Given the description of an element on the screen output the (x, y) to click on. 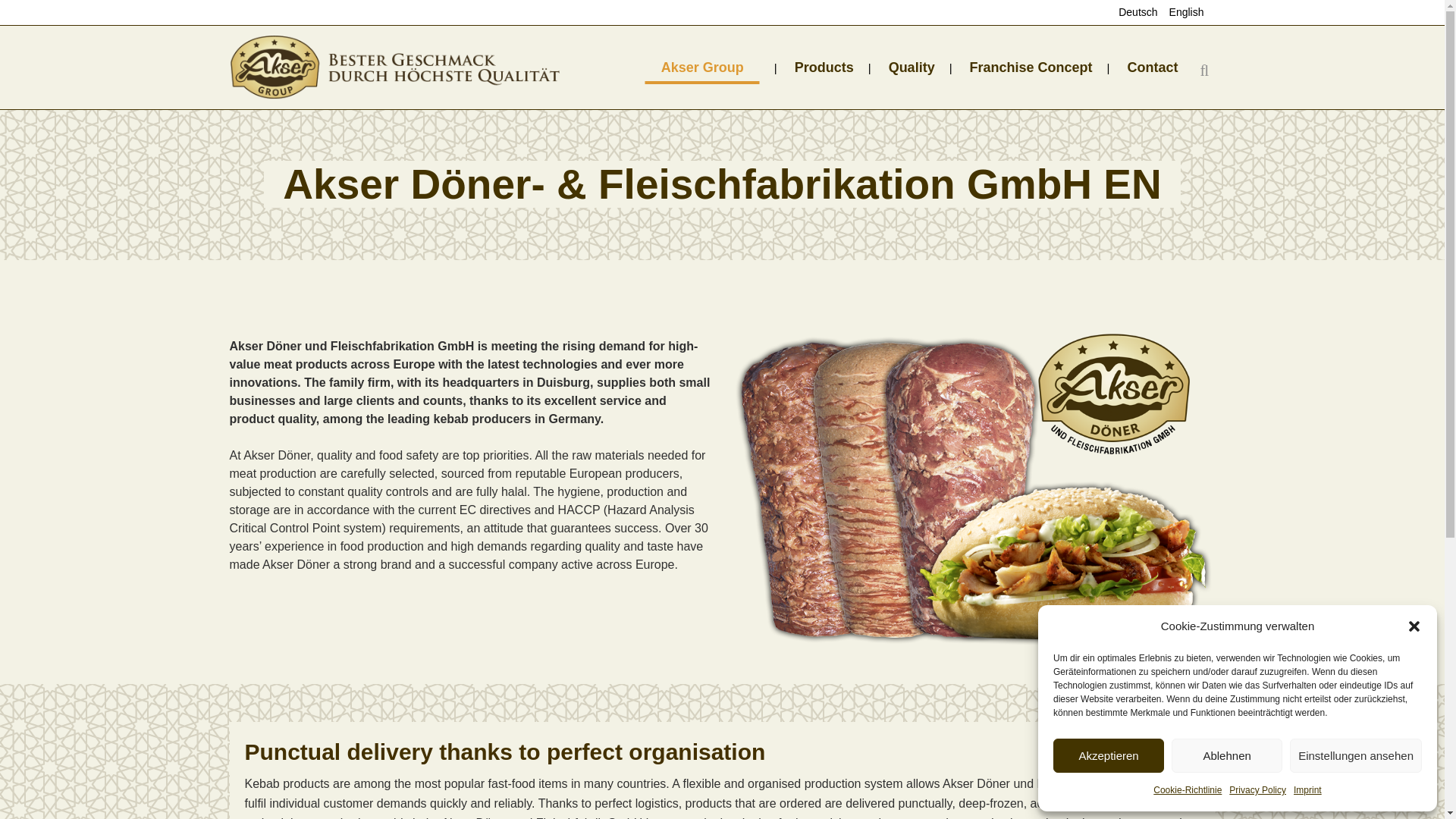
Products (823, 66)
Privacy Policy (1256, 790)
Imprint (1308, 790)
English (1180, 12)
Einstellungen ansehen (1356, 755)
Ablehnen (1227, 755)
Akzeptieren (1107, 755)
Cookie-Richtlinie (1187, 790)
Deutsch (1131, 12)
